Given the description of an element on the screen output the (x, y) to click on. 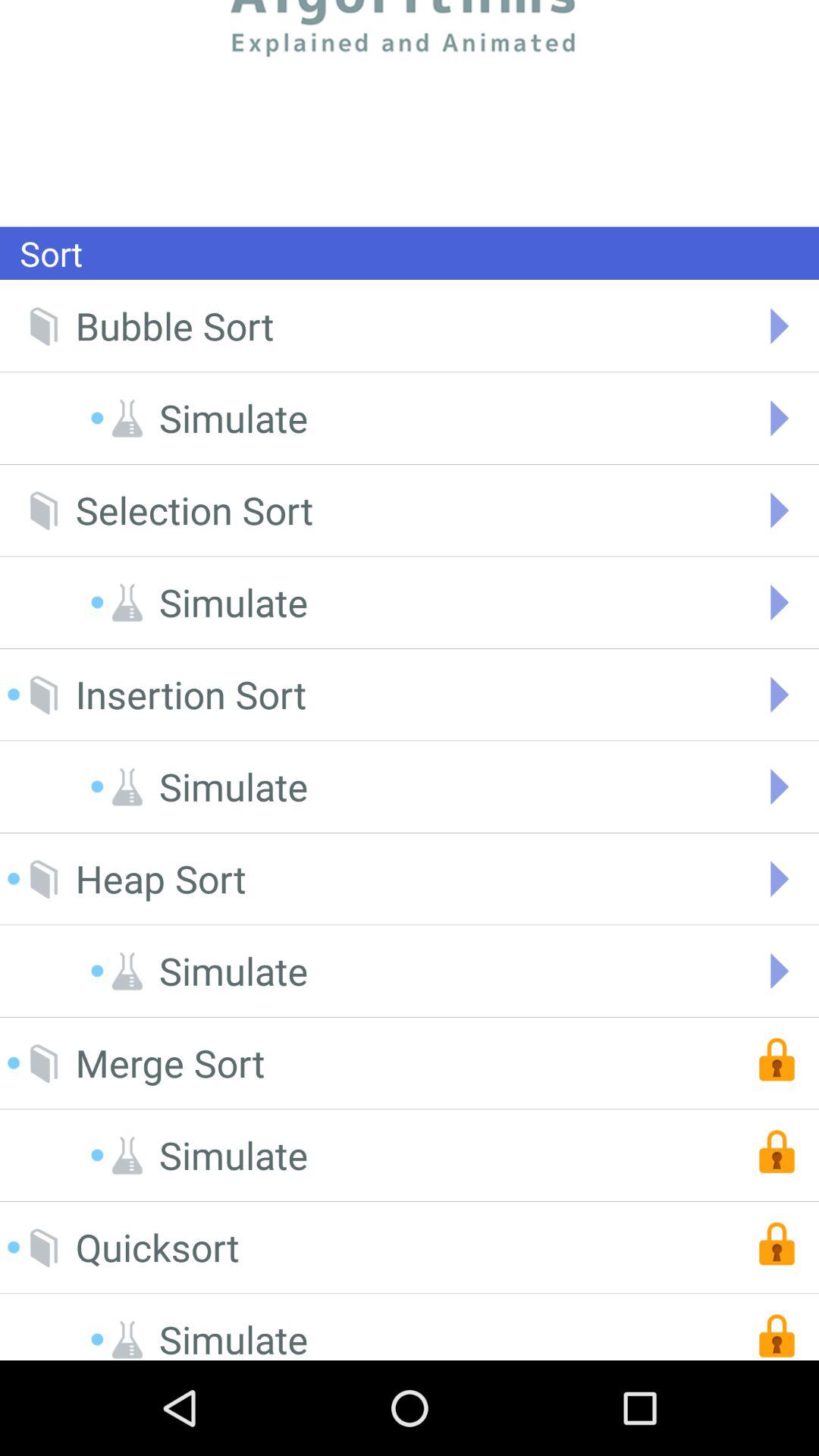
flip to quicksort (157, 1247)
